Given the description of an element on the screen output the (x, y) to click on. 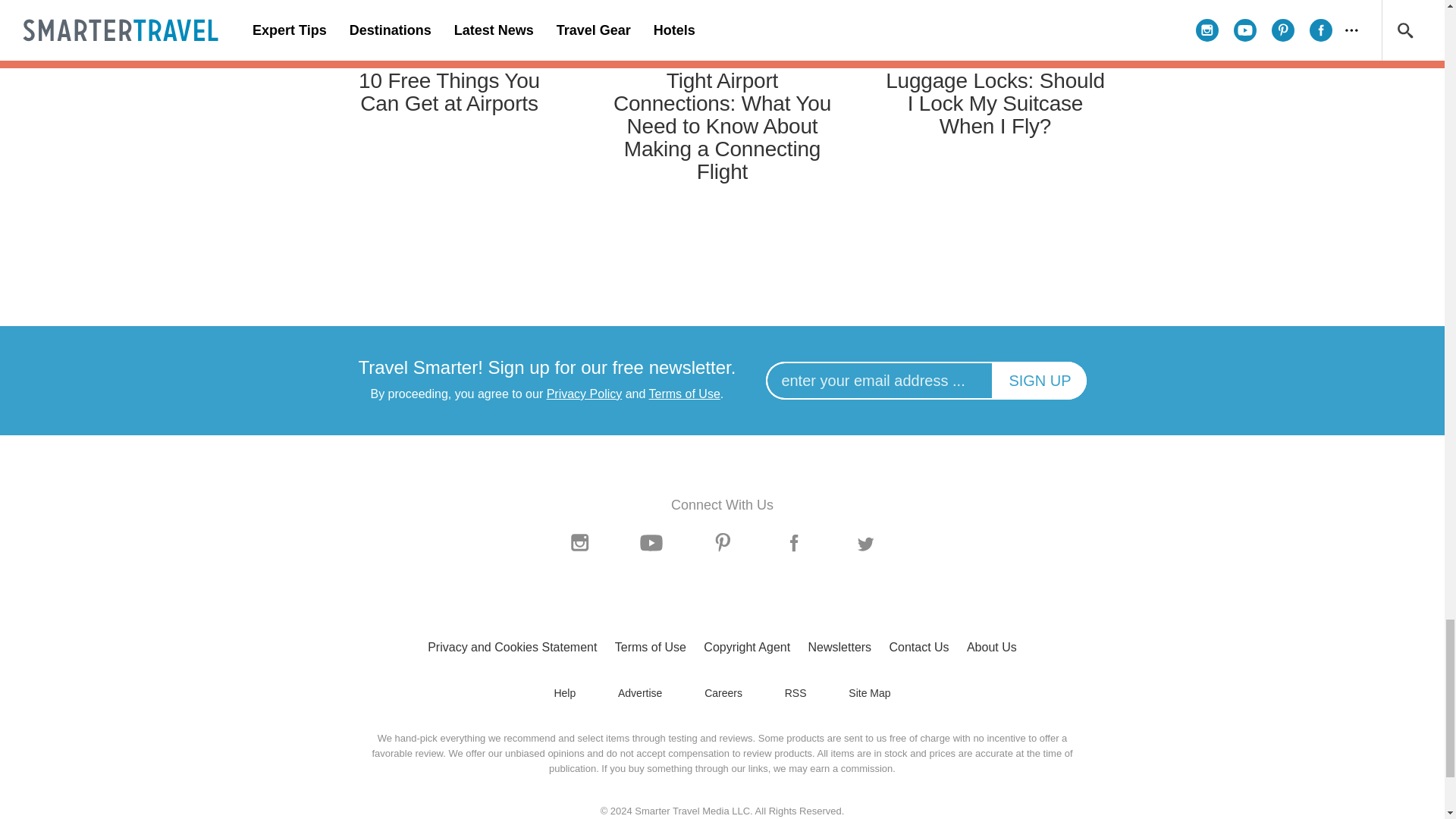
View all posts in Airport (449, 56)
View all posts in Packing (995, 56)
View all posts in Booking Strategy (722, 56)
